Given the description of an element on the screen output the (x, y) to click on. 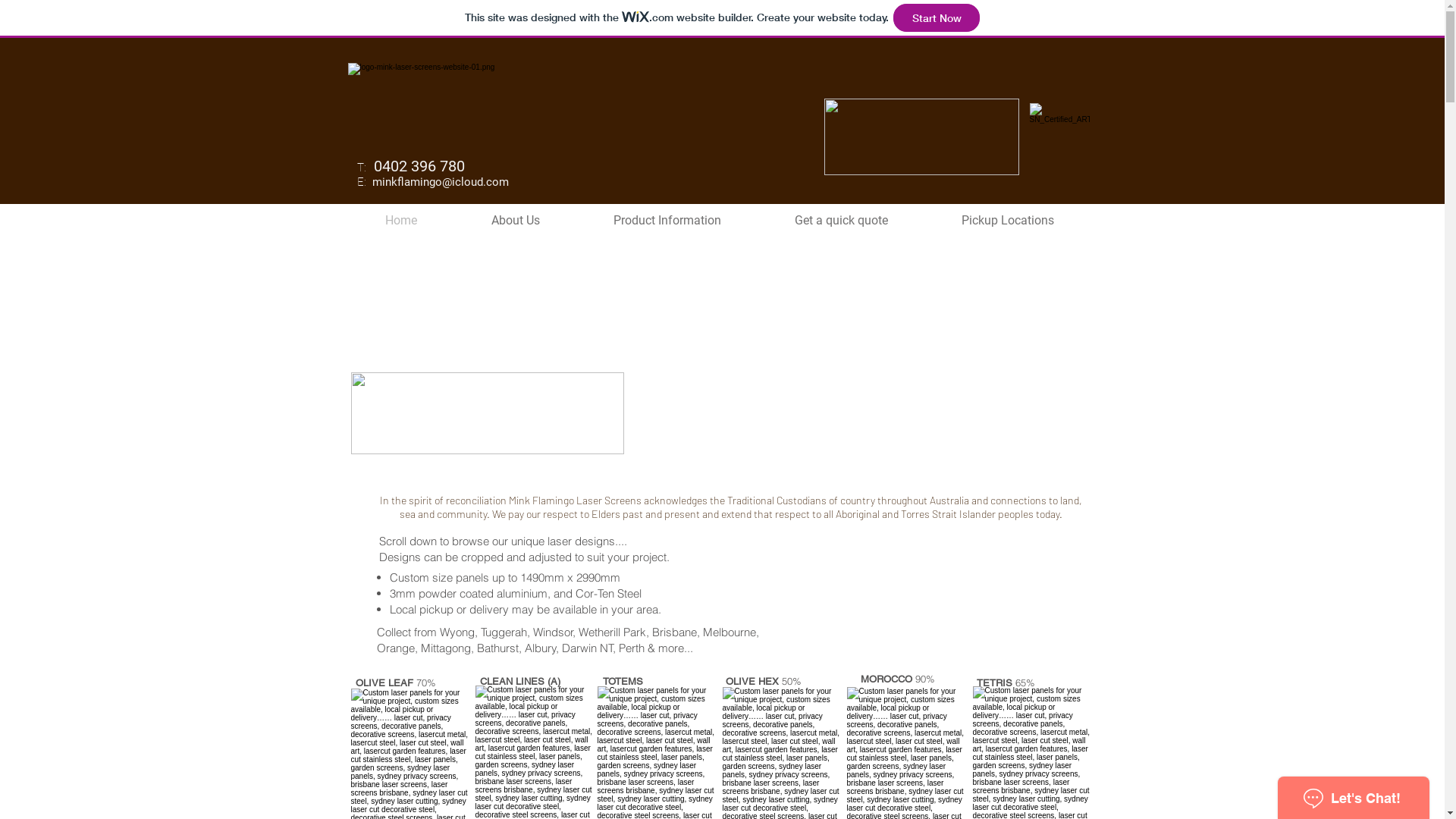
Pickup Locations Element type: text (1008, 219)
screen sizes Element type: text (871, 525)
privacy screens Element type: text (1020, 501)
E:  minkflamingo@icloud.com  Element type: text (433, 181)
  Element type: text (367, 165)
laser designs Element type: text (800, 525)
www.minkflamingoscreens.com.au Element type: text (624, 529)
Home Element type: text (400, 219)
powdercoating Element type: text (675, 513)
T: Element type: text (360, 166)
Product Information Element type: text (666, 219)
www.minkflamingo.com.au Element type: text (561, 529)
0402 396 780 Element type: text (417, 165)
Get a quick quote Element type: text (841, 219)
About Us Element type: text (514, 219)
